Given the description of an element on the screen output the (x, y) to click on. 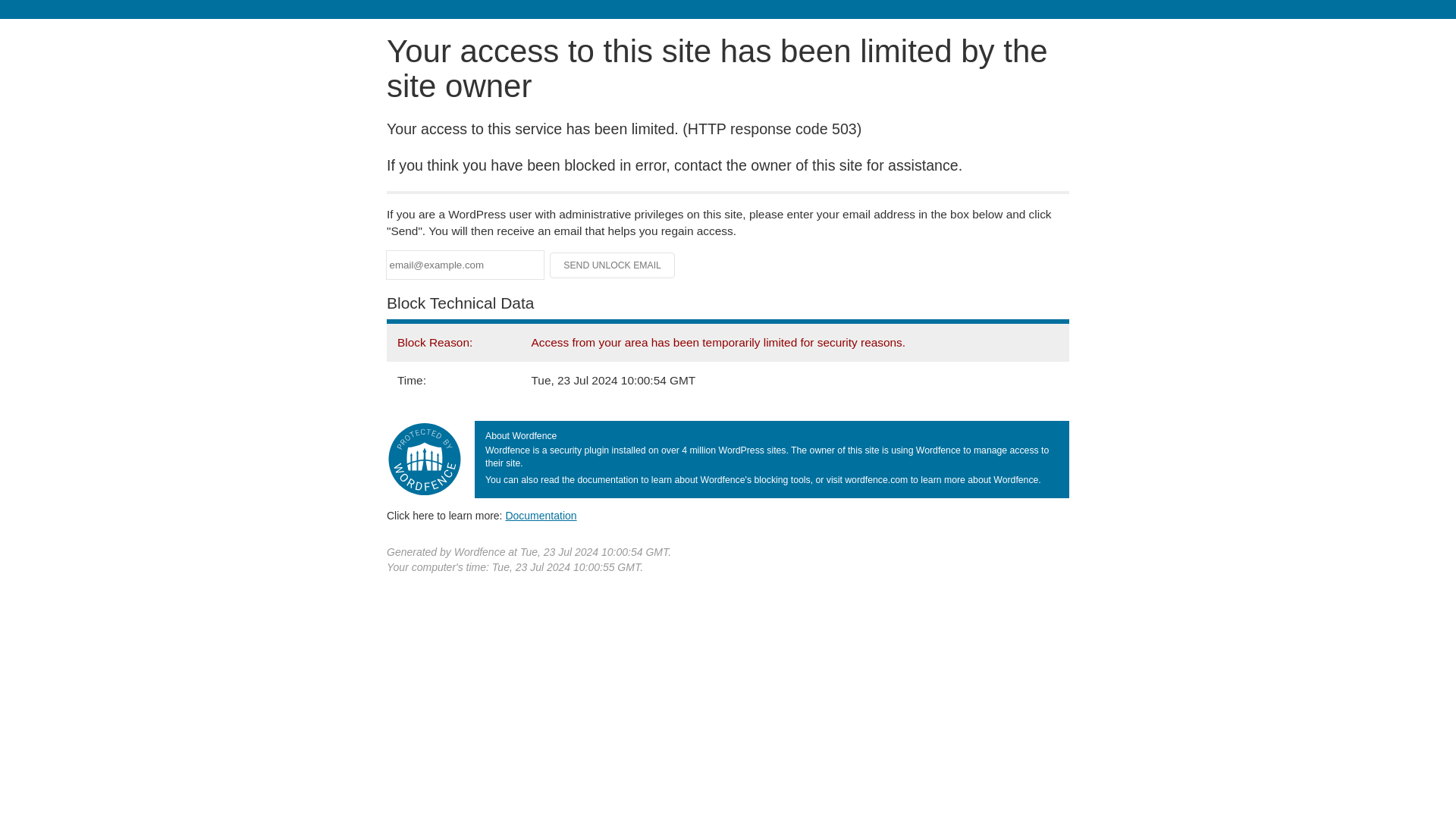
Documentation (540, 515)
Send Unlock Email (612, 265)
Send Unlock Email (612, 265)
